Given the description of an element on the screen output the (x, y) to click on. 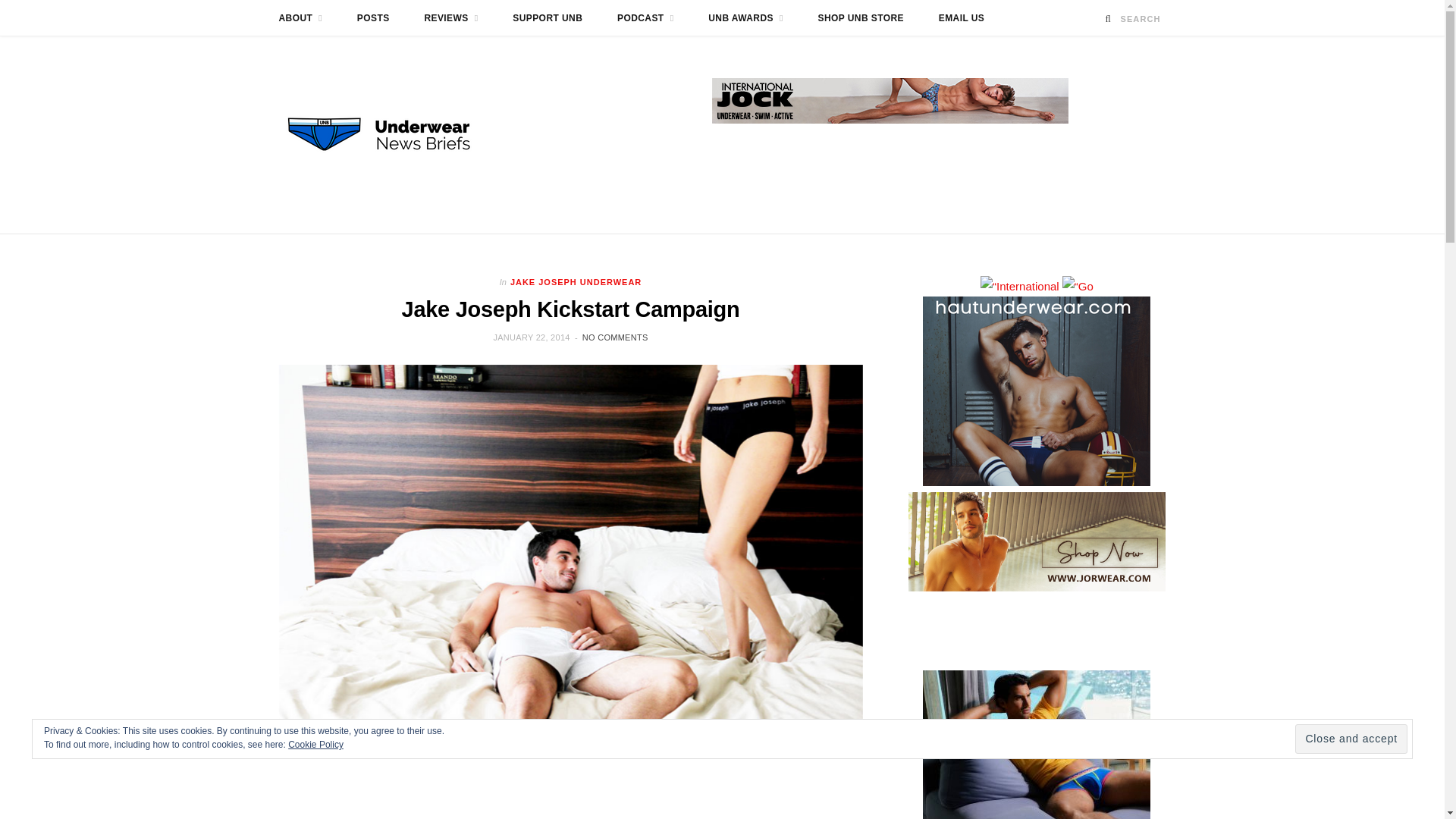
Close and accept (1351, 738)
ABOUT (299, 18)
PODCAST (644, 18)
REVIEWS (450, 18)
UNB AWARDS (746, 18)
POSTS (373, 18)
SHOP UNB STORE (861, 18)
SUPPORT UNB (547, 18)
EMAIL US (961, 18)
